Given the description of an element on the screen output the (x, y) to click on. 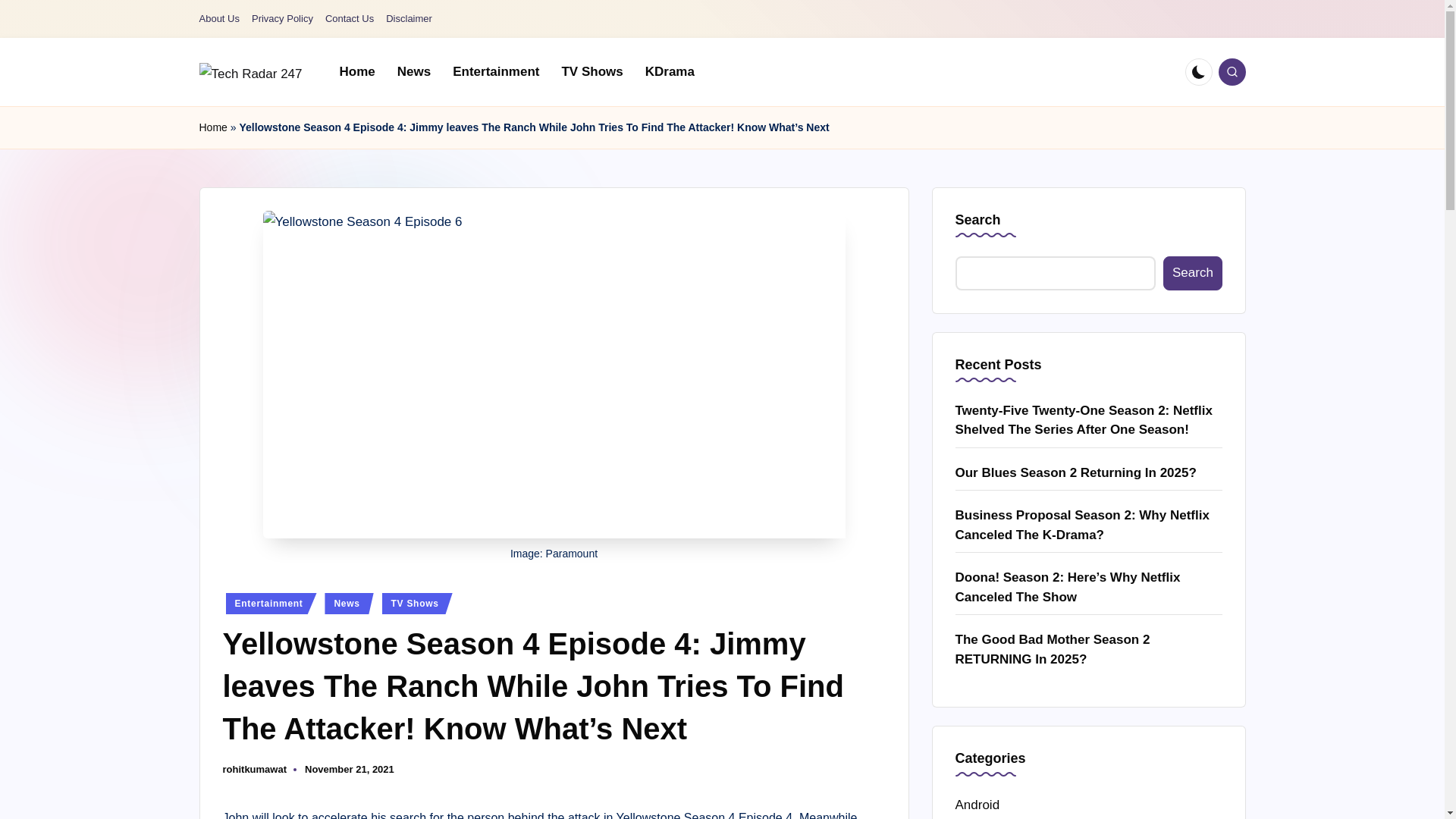
The Good Bad Mother Season 2 RETURNING In 2025? (1089, 649)
Entertainment (496, 71)
Search (1192, 273)
Disclaimer (408, 18)
KDrama (669, 71)
Home (212, 127)
Our Blues Season 2 Returning In 2025? (1089, 473)
Privacy Policy (282, 18)
